Given the description of an element on the screen output the (x, y) to click on. 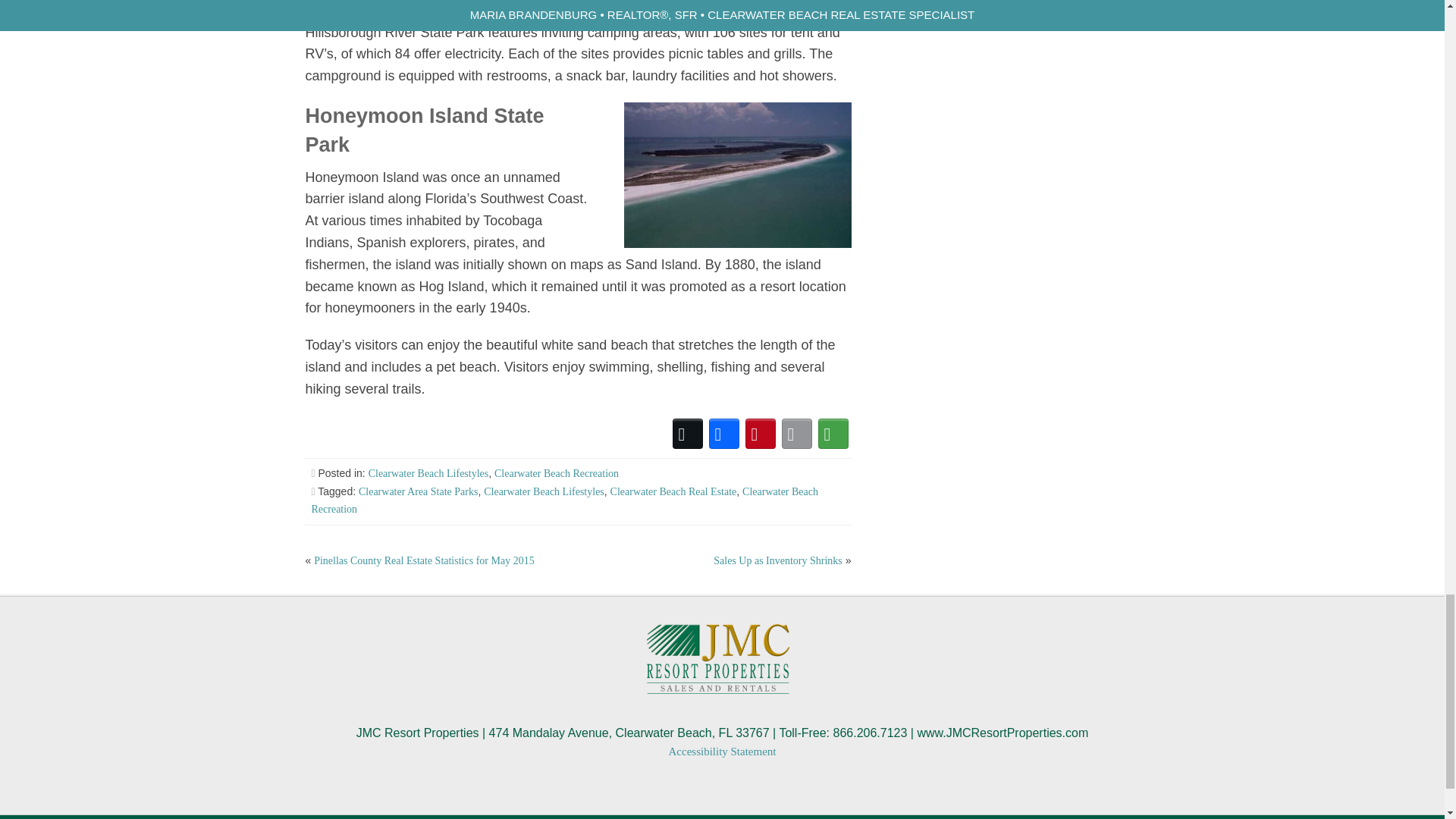
Email This (796, 433)
Facebook (724, 433)
Pinterest (760, 433)
More Options (833, 433)
